Given the description of an element on the screen output the (x, y) to click on. 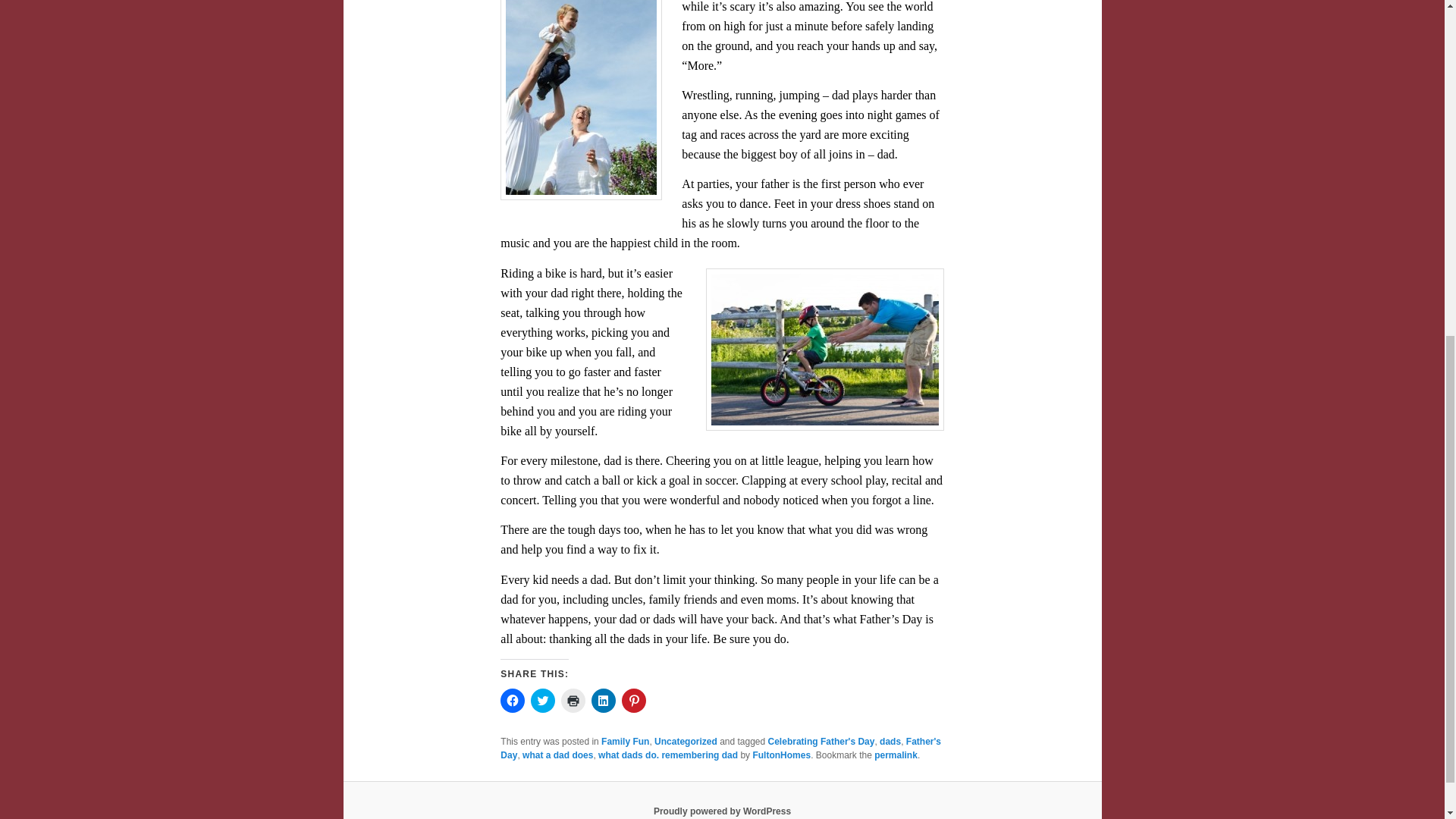
Uncategorized (685, 741)
Family Fun (625, 741)
Click to share on Twitter (542, 700)
FultonHomes (781, 755)
dads (890, 741)
Click to share on LinkedIn (603, 700)
what a dad does (557, 755)
permalink (896, 755)
Click to share on Facebook (512, 700)
Semantic Personal Publishing Platform (721, 810)
